Given the description of an element on the screen output the (x, y) to click on. 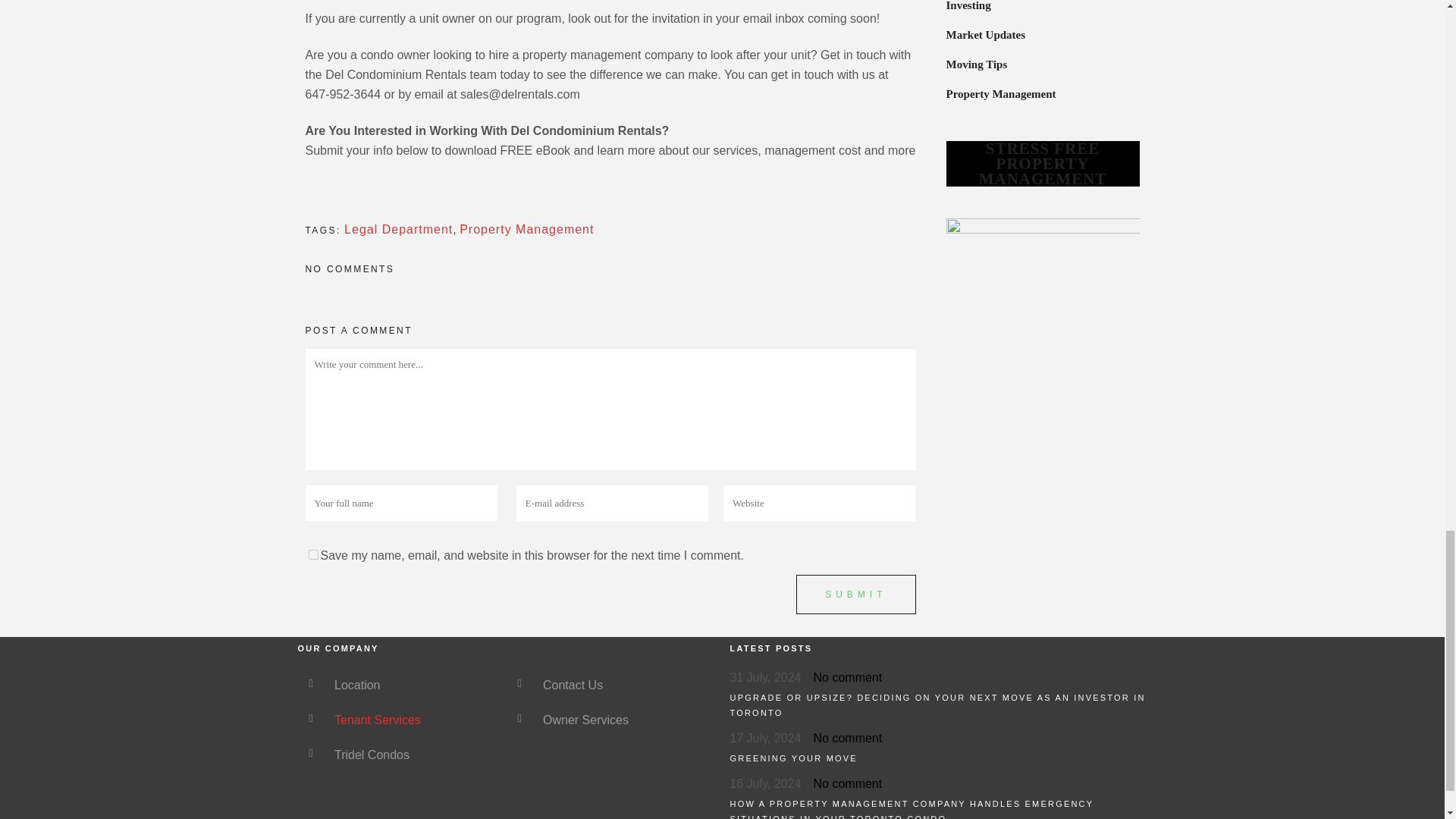
Property Management (527, 228)
Submit (855, 594)
yes (312, 554)
Legal Department (397, 228)
